Given the description of an element on the screen output the (x, y) to click on. 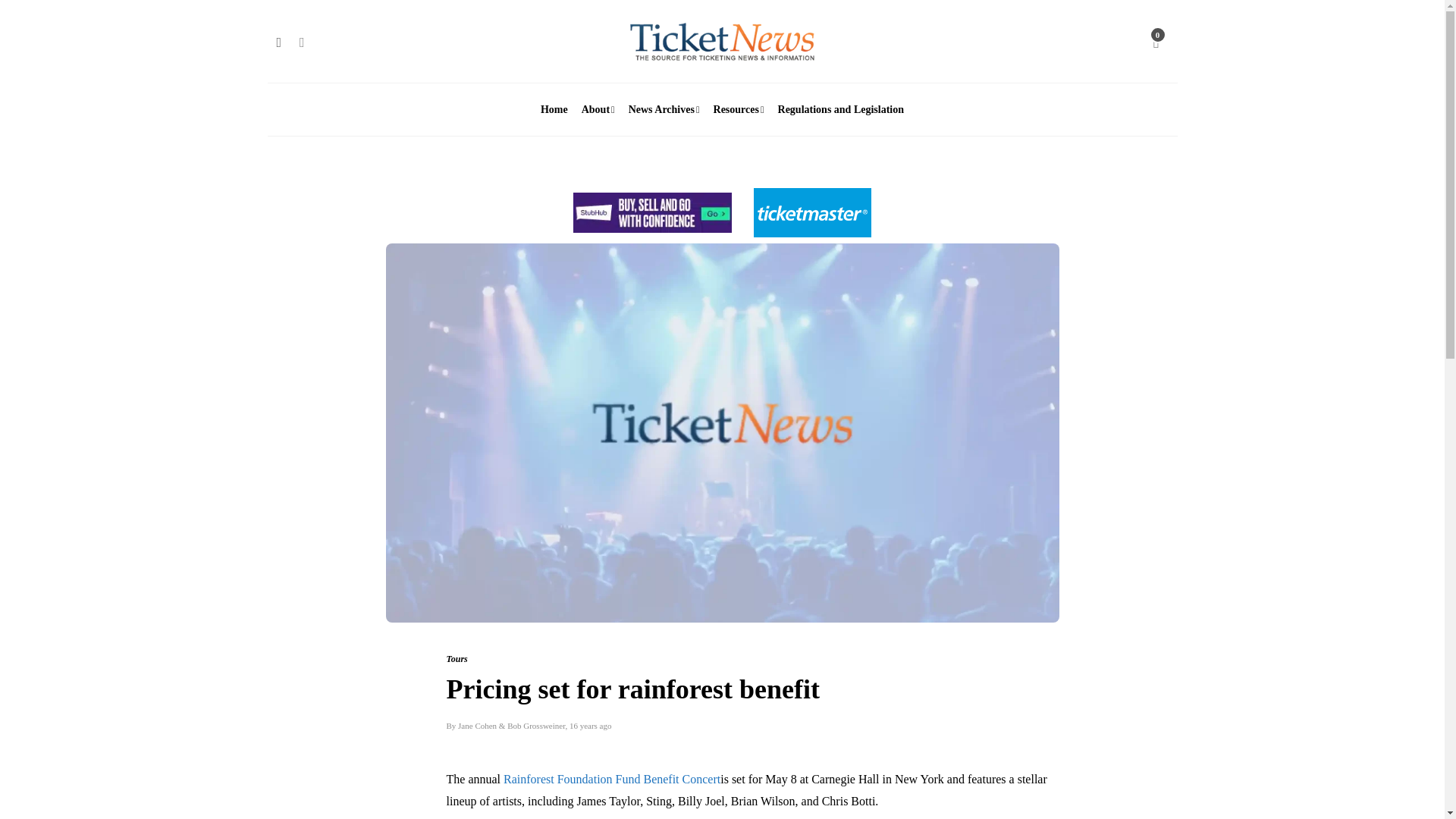
News Archives (664, 109)
0 (1155, 41)
Home (553, 109)
About (597, 109)
